Given the description of an element on the screen output the (x, y) to click on. 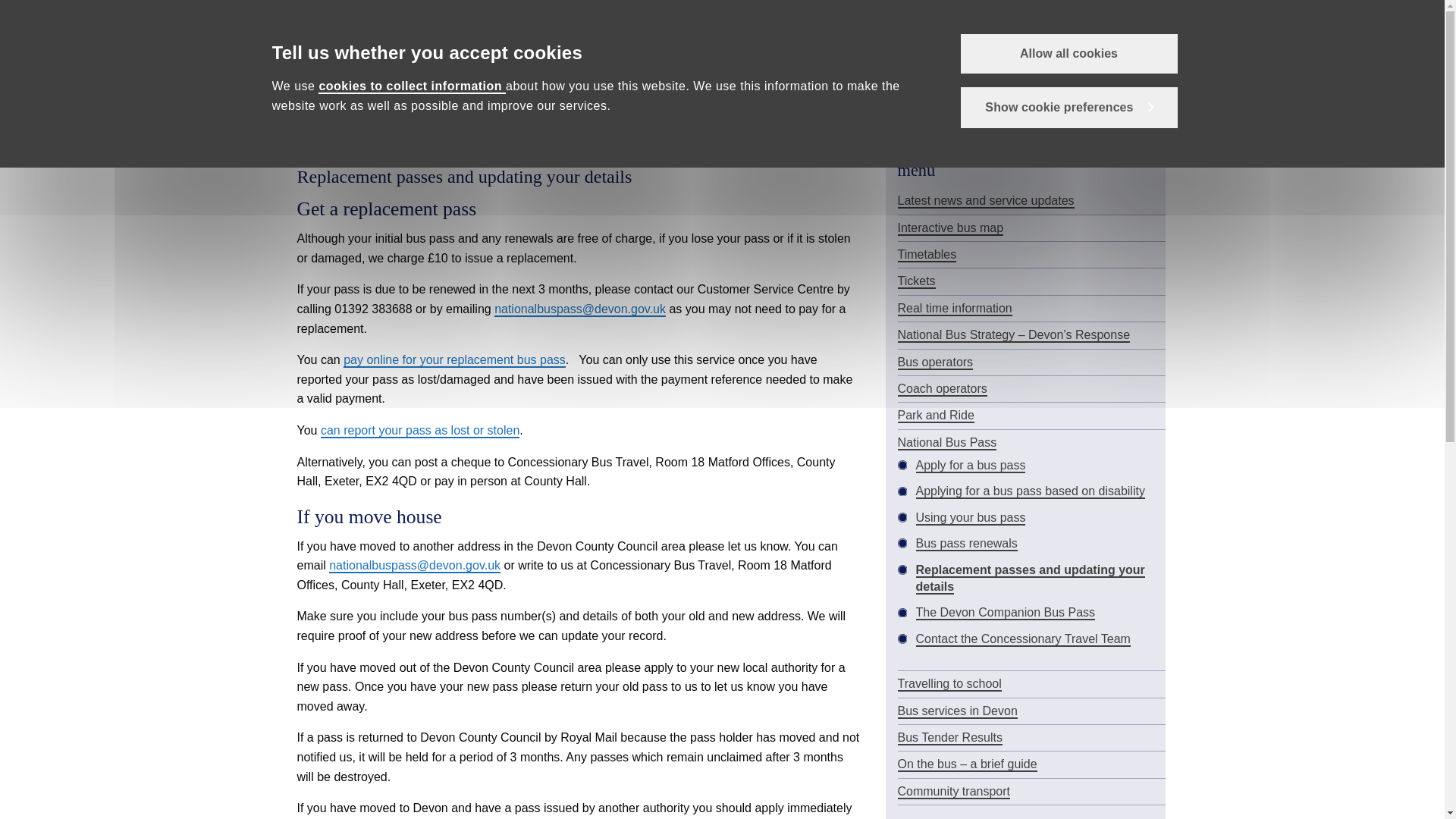
Allow all cookies (1067, 53)
back (1147, 116)
cookies to collect information (411, 85)
Show cookie preferences (1067, 106)
